Given the description of an element on the screen output the (x, y) to click on. 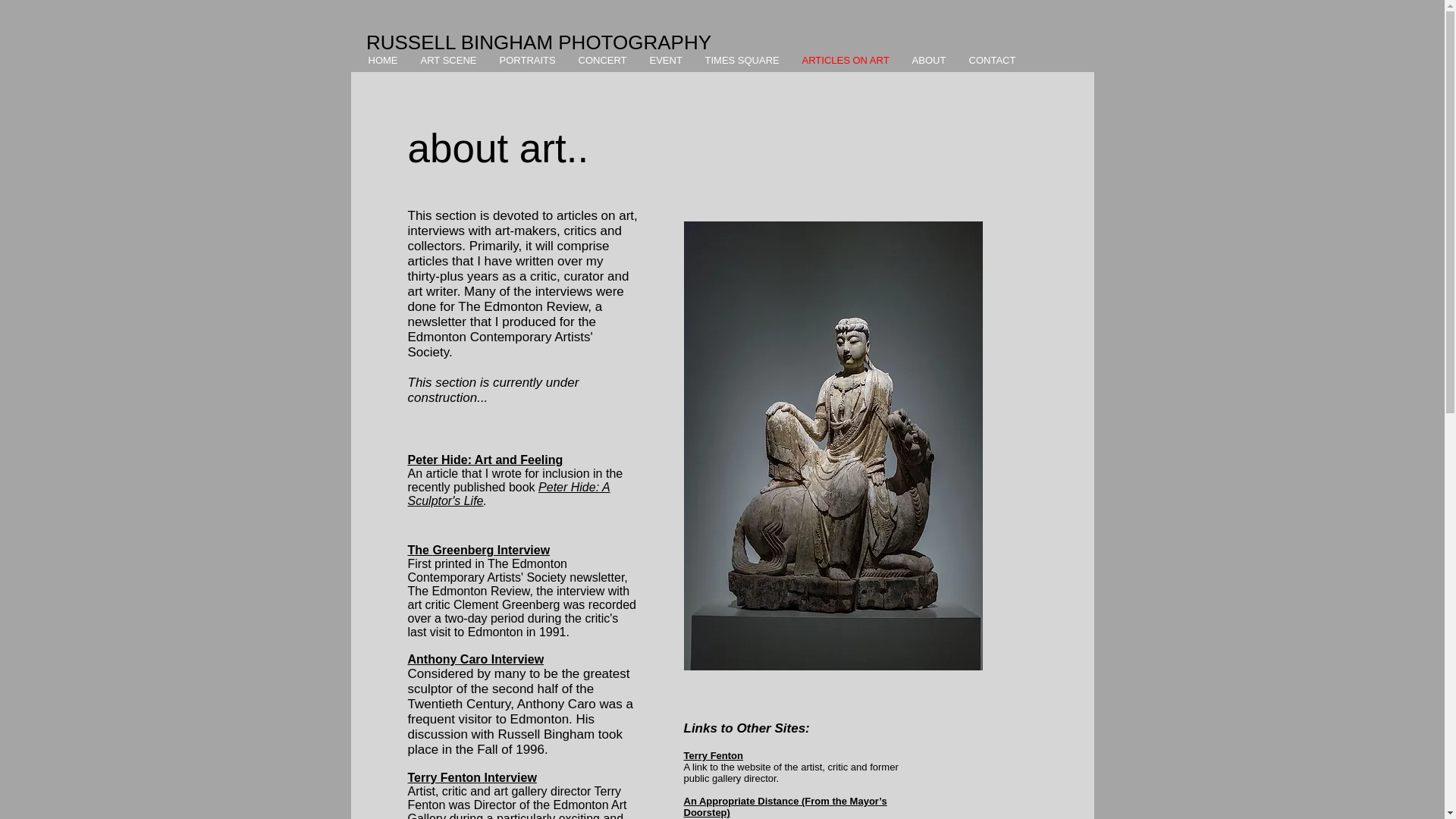
TIMES SQUARE (741, 60)
ART SCENE (448, 60)
ARTICLES ON ART (844, 60)
CONCERT (603, 60)
EVENT (666, 60)
PORTRAITS (527, 60)
The Greenberg Interview (478, 549)
CONTACT (991, 60)
Anthony Caro Interview (475, 658)
ABOUT (929, 60)
Peter Hide: A Sculptor's Life (508, 493)
HOME (382, 60)
Peter Hide: Art and Feeling (485, 459)
Terry Fenton Interview (472, 777)
Terry Fenton (714, 755)
